Given the description of an element on the screen output the (x, y) to click on. 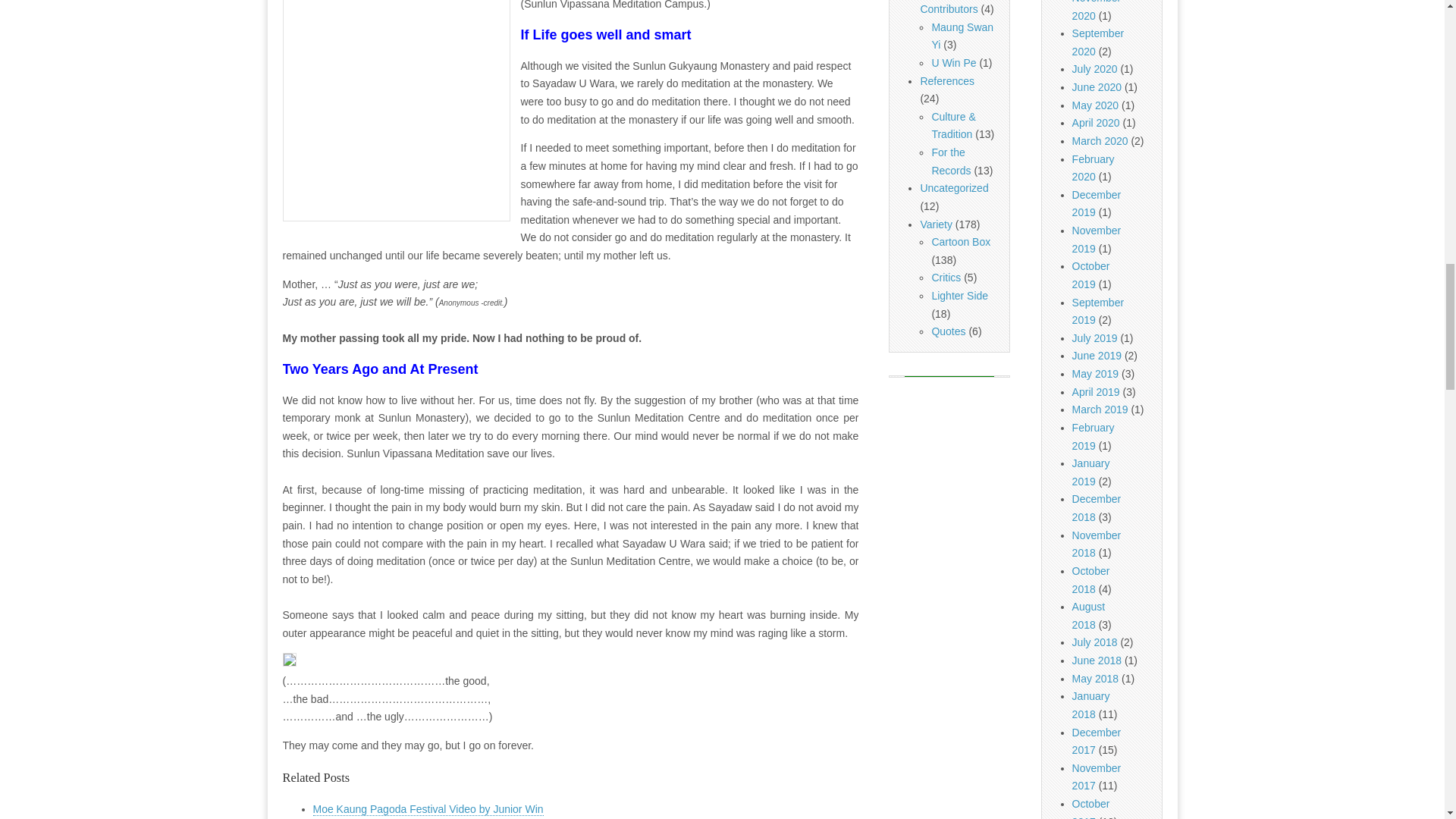
Moe Kaung Pagoda Festival Video by Junior Win (428, 809)
